Given the description of an element on the screen output the (x, y) to click on. 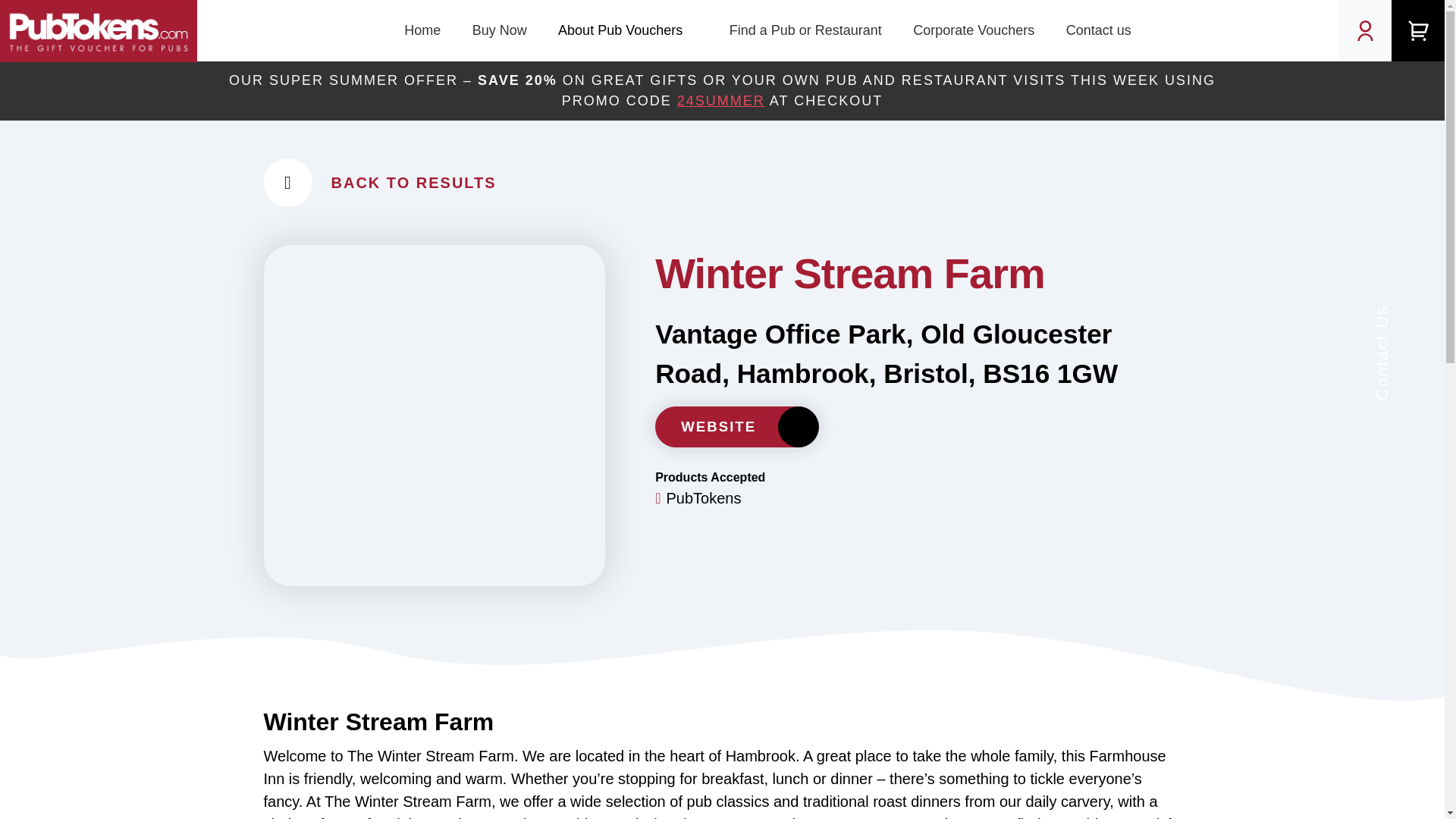
Find a Pub or Restaurant (805, 30)
About Pub Vouchers (627, 30)
Contact us (1098, 30)
WEBSITE (736, 426)
Buy Now (499, 30)
BACK TO RESULTS (721, 182)
Corporate Vouchers (972, 30)
